Given the description of an element on the screen output the (x, y) to click on. 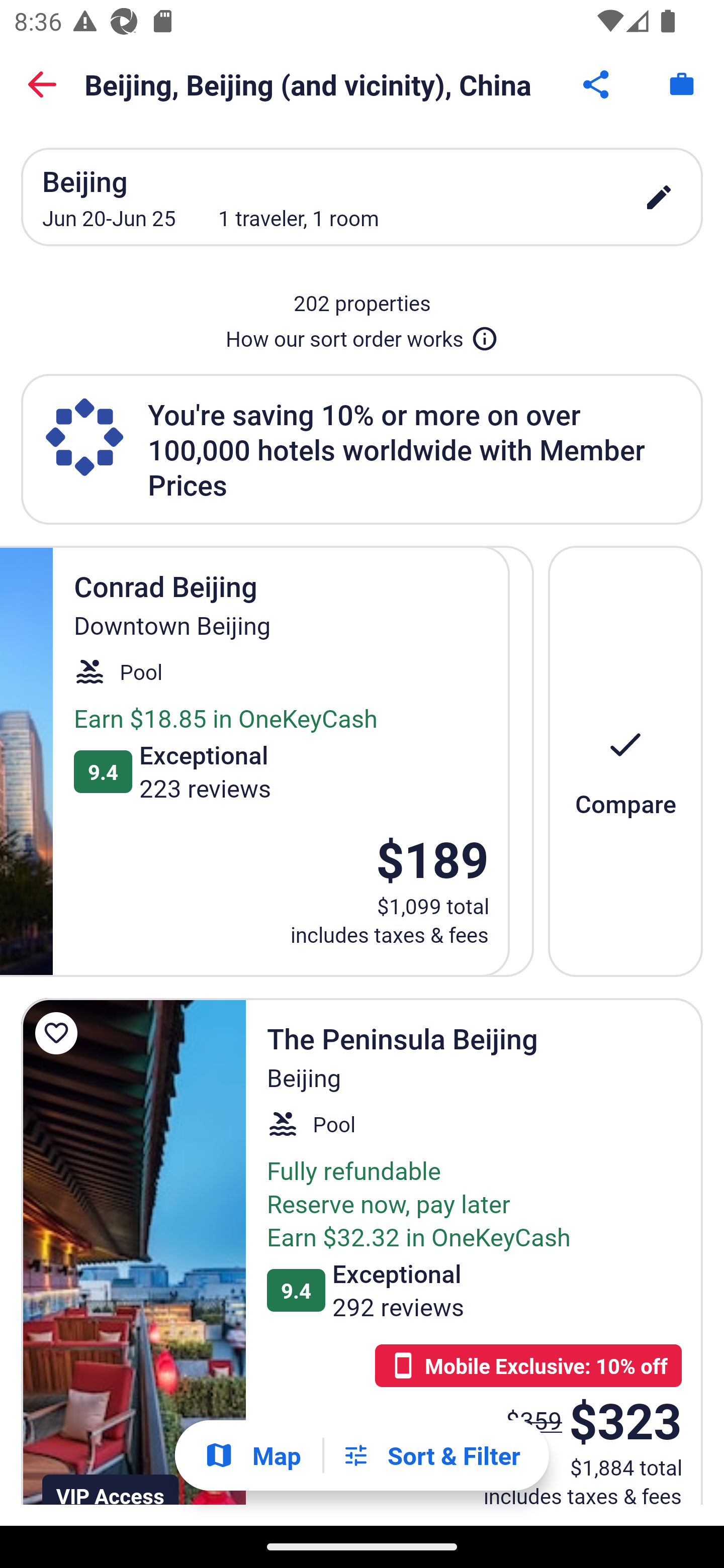
Back (42, 84)
Share Button (597, 84)
Trips. Button (681, 84)
Beijing Jun 20-Jun 25 1 traveler, 1 room edit (361, 196)
How our sort order works (361, 334)
Save The Peninsula Beijing to a trip (59, 1032)
The Peninsula Beijing (133, 1251)
Filters Sort & Filter Filters Button (430, 1455)
Show map Map Show map Button (252, 1455)
